Given the description of an element on the screen output the (x, y) to click on. 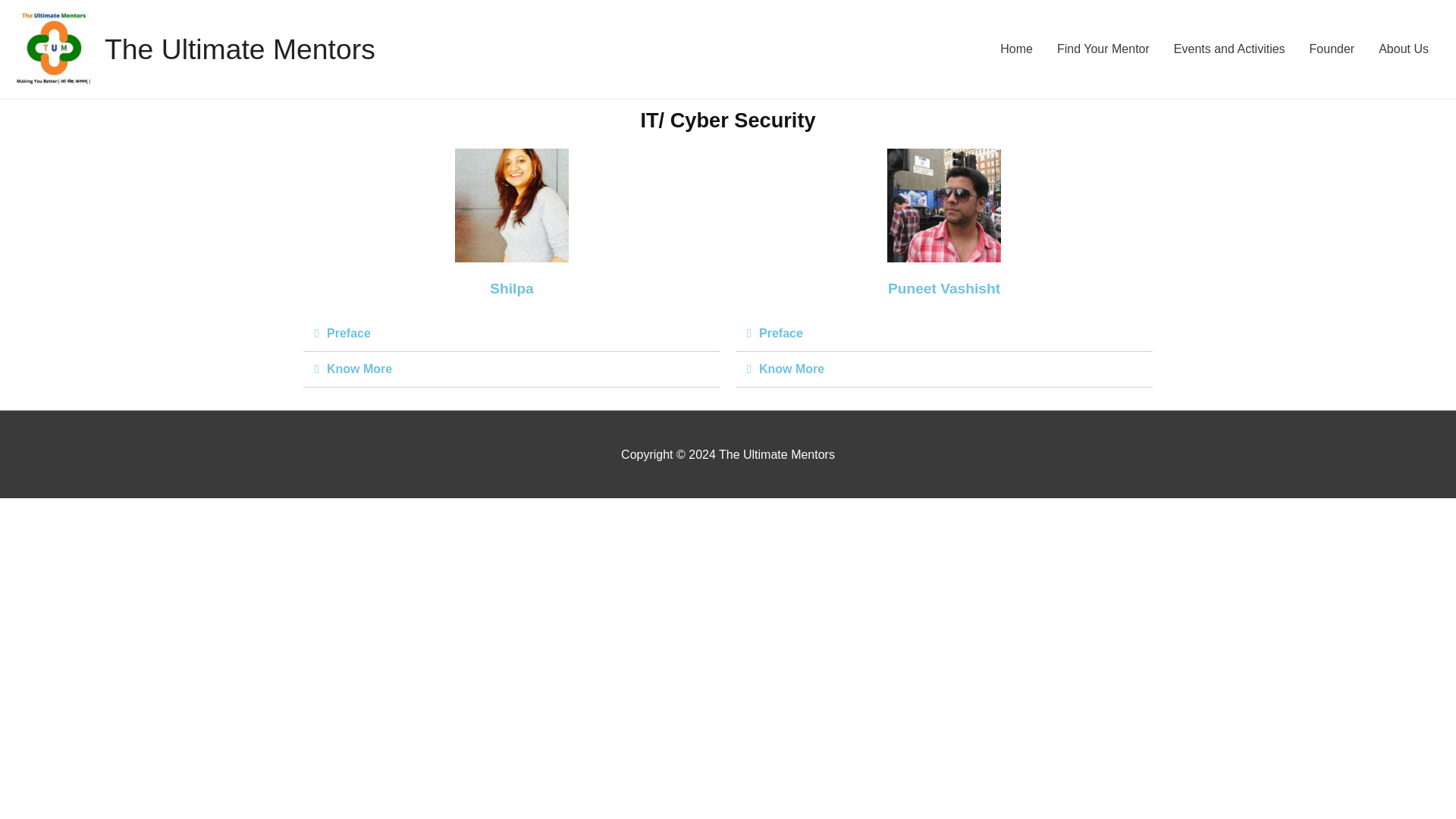
Know More (358, 368)
Preface (780, 332)
Events and Activities (1229, 49)
The Ultimate Mentors (239, 49)
Find Your Mentor (1103, 49)
Preface (348, 332)
Know More (791, 368)
